Given the description of an element on the screen output the (x, y) to click on. 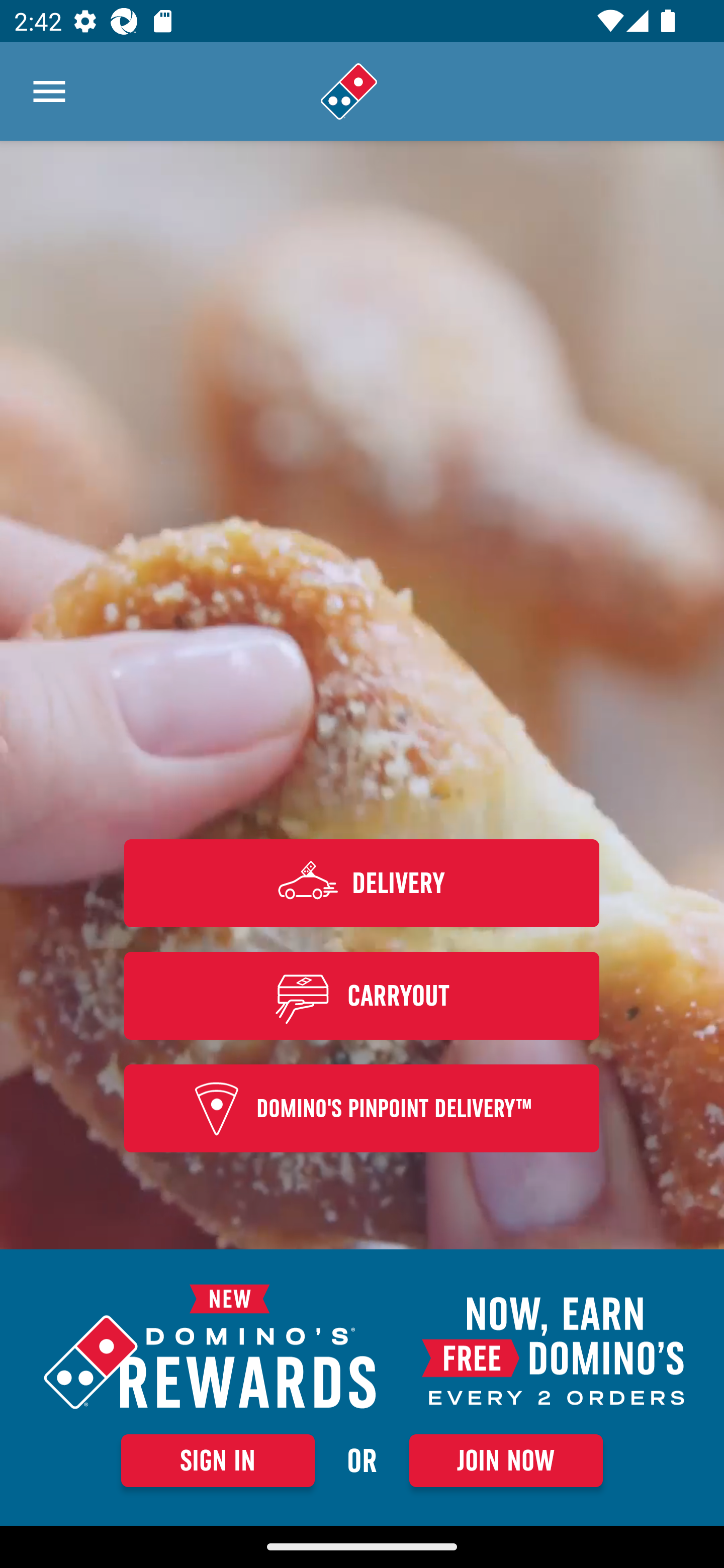
Expand Menu (49, 91)
DELIVERY (361, 882)
CARRYOUT (361, 995)
DOMINO'S PINPOINT DELIVERY™ (361, 1108)
SIGN IN (217, 1460)
JOIN NOW (506, 1460)
